Given the description of an element on the screen output the (x, y) to click on. 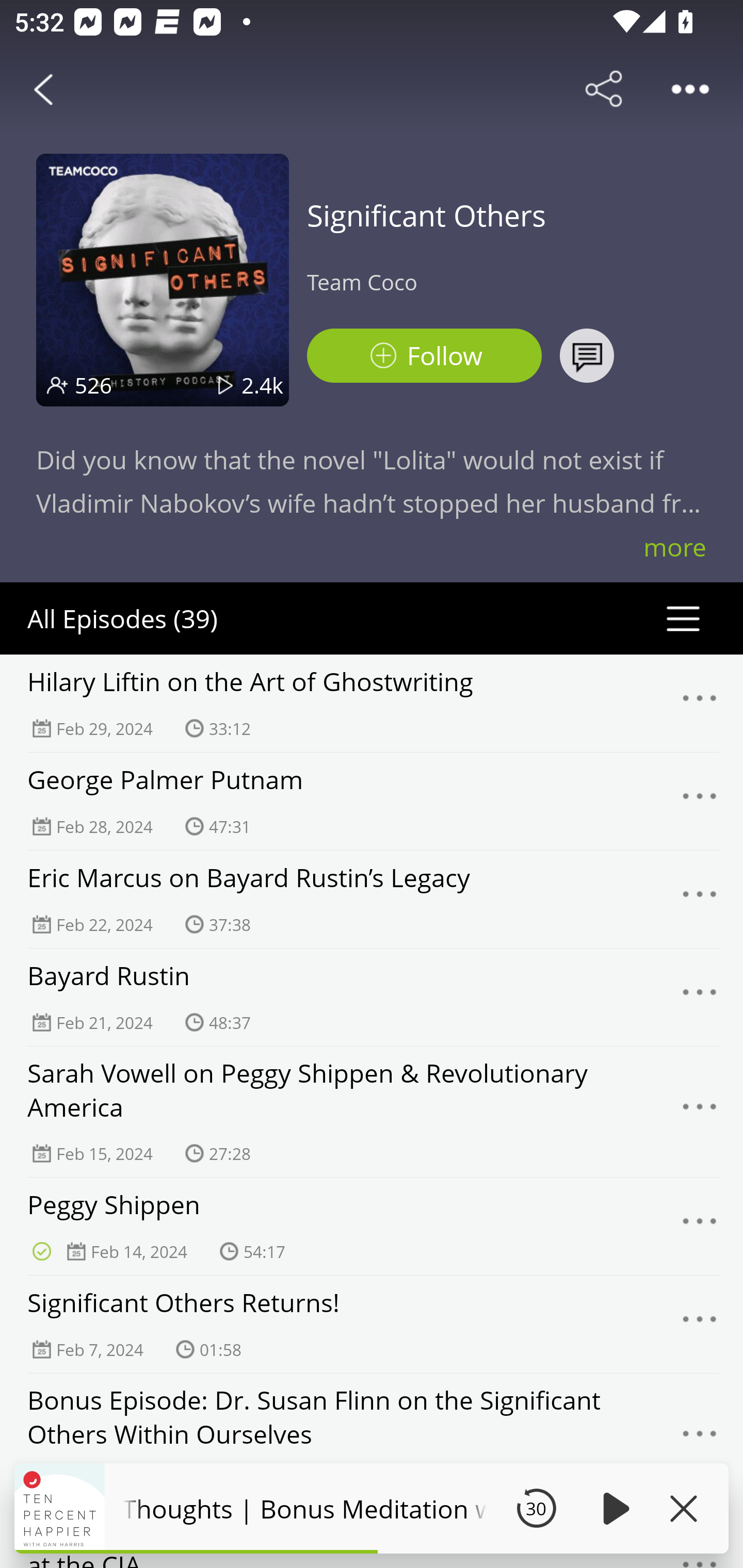
Back (43, 88)
Podbean Follow (423, 355)
526 (93, 384)
more (674, 546)
Menu (699, 703)
George Palmer Putnam Feb 28, 2024 47:31 Menu (371, 800)
Menu (699, 801)
Menu (699, 899)
Bayard Rustin Feb 21, 2024 48:37 Menu (371, 996)
Menu (699, 997)
Menu (699, 1112)
Peggy Shippen Feb 14, 2024 54:17 Menu (371, 1225)
Menu (699, 1226)
Significant Others Returns! Feb 7, 2024 01:58 Menu (371, 1323)
Menu (699, 1324)
Menu (699, 1438)
Play (613, 1507)
30 Seek Backward (536, 1508)
